Given the description of an element on the screen output the (x, y) to click on. 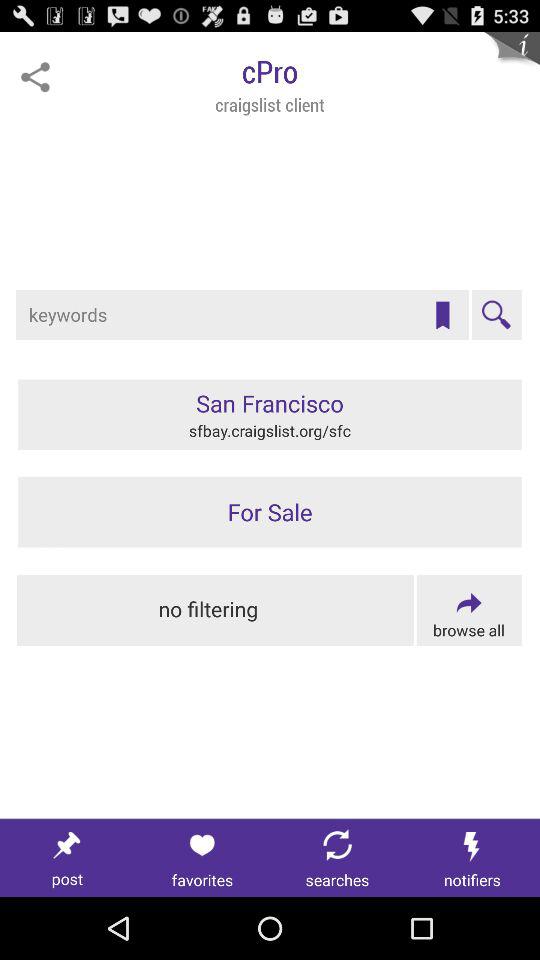
search all (468, 610)
